Given the description of an element on the screen output the (x, y) to click on. 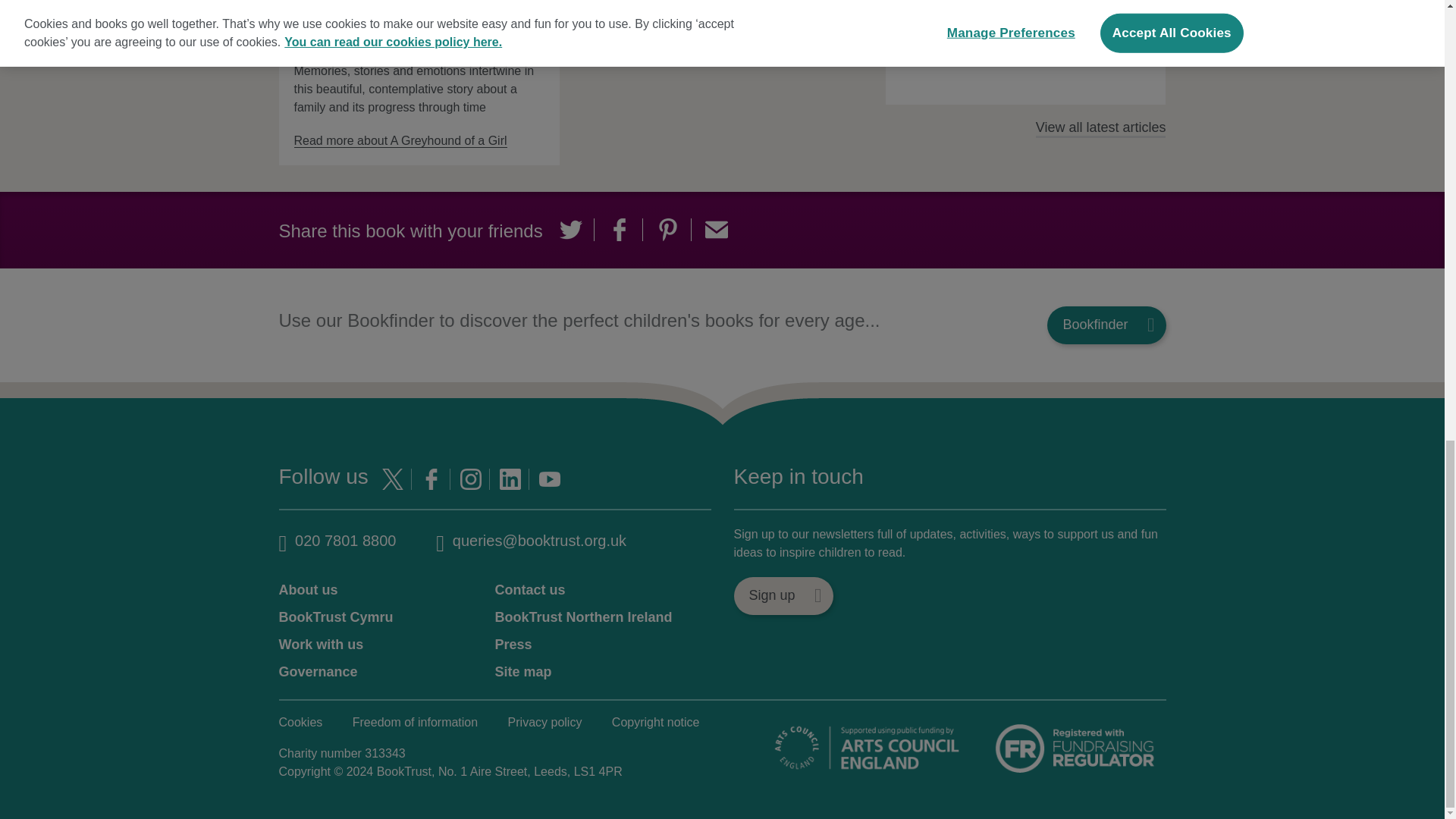
Share on Pinterest (667, 229)
A Greyhound of a Girl (400, 141)
A Greyhound of a Girl (364, 26)
Share on Twitter (570, 229)
Share on Facebook (619, 229)
